Given the description of an element on the screen output the (x, y) to click on. 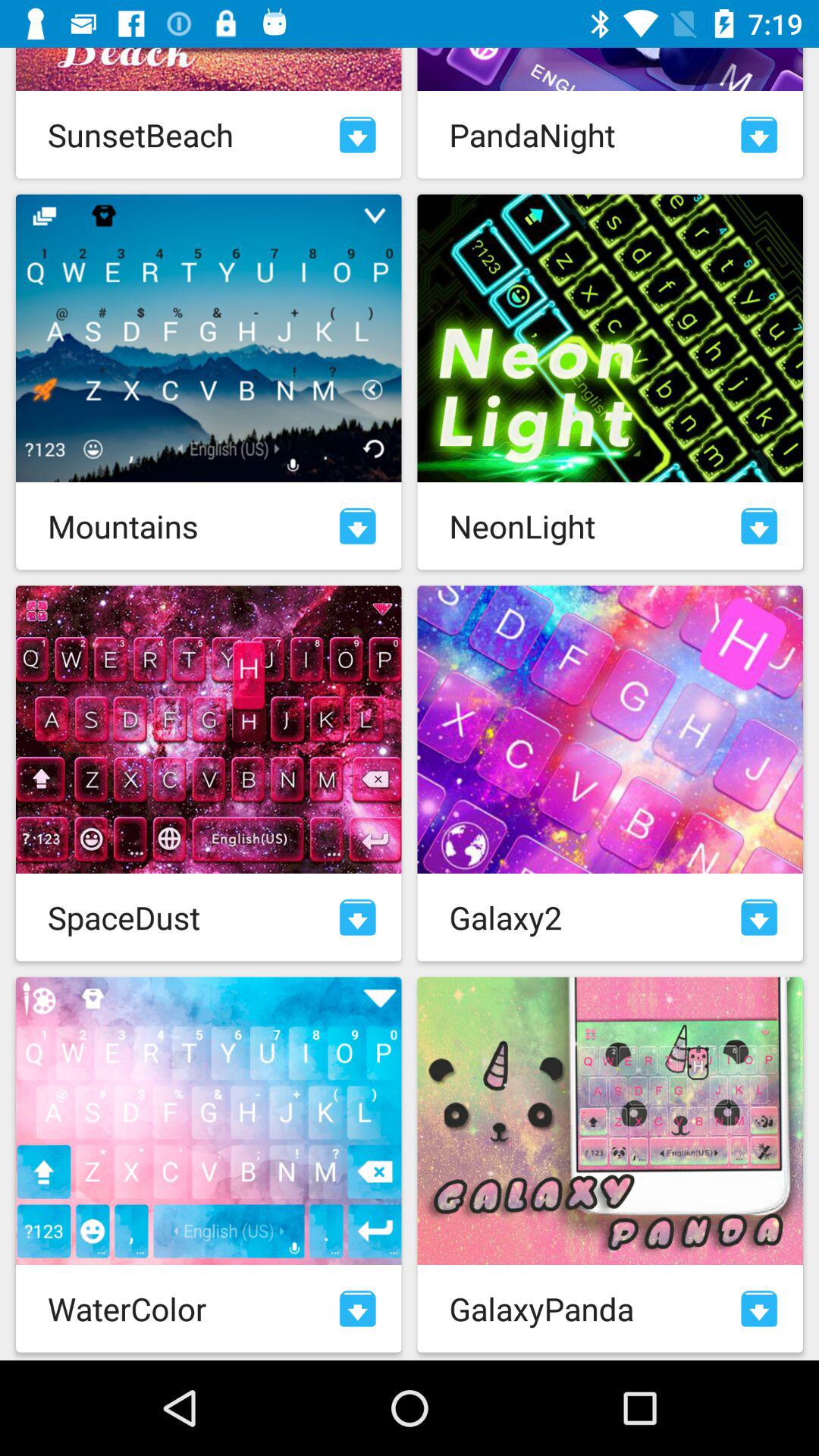
download element (759, 1308)
